Given the description of an element on the screen output the (x, y) to click on. 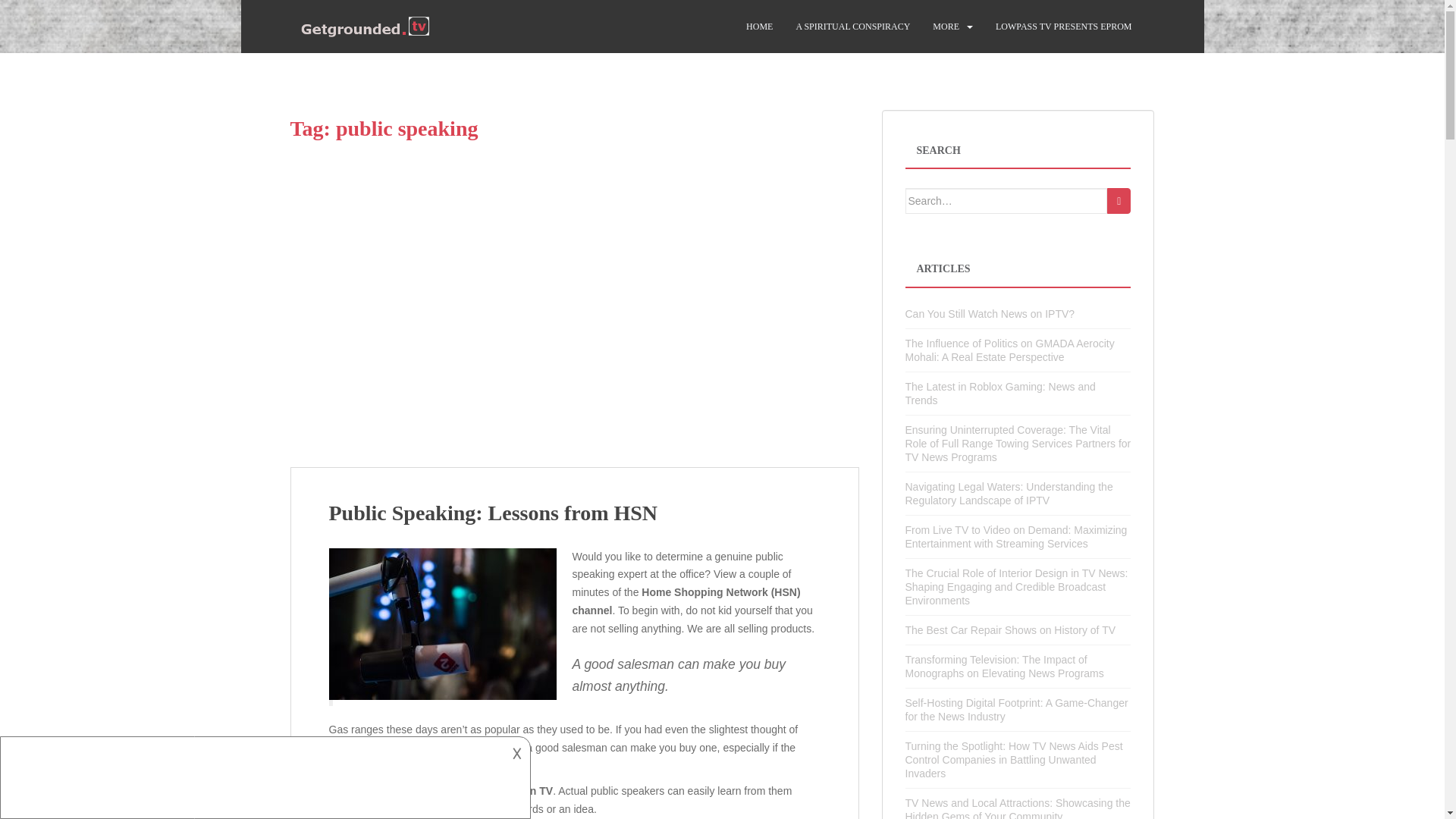
The Best Car Repair Shows on History of TV (1010, 630)
MORE (946, 26)
Can You Still Watch News on IPTV? (990, 313)
LOWPASS TV PRESENTS EPROM (1063, 26)
Search (1118, 200)
HOME (759, 26)
A SPIRITUAL CONSPIRACY (852, 26)
Public Speaking: Lessons from HSN (493, 512)
